Given the description of an element on the screen output the (x, y) to click on. 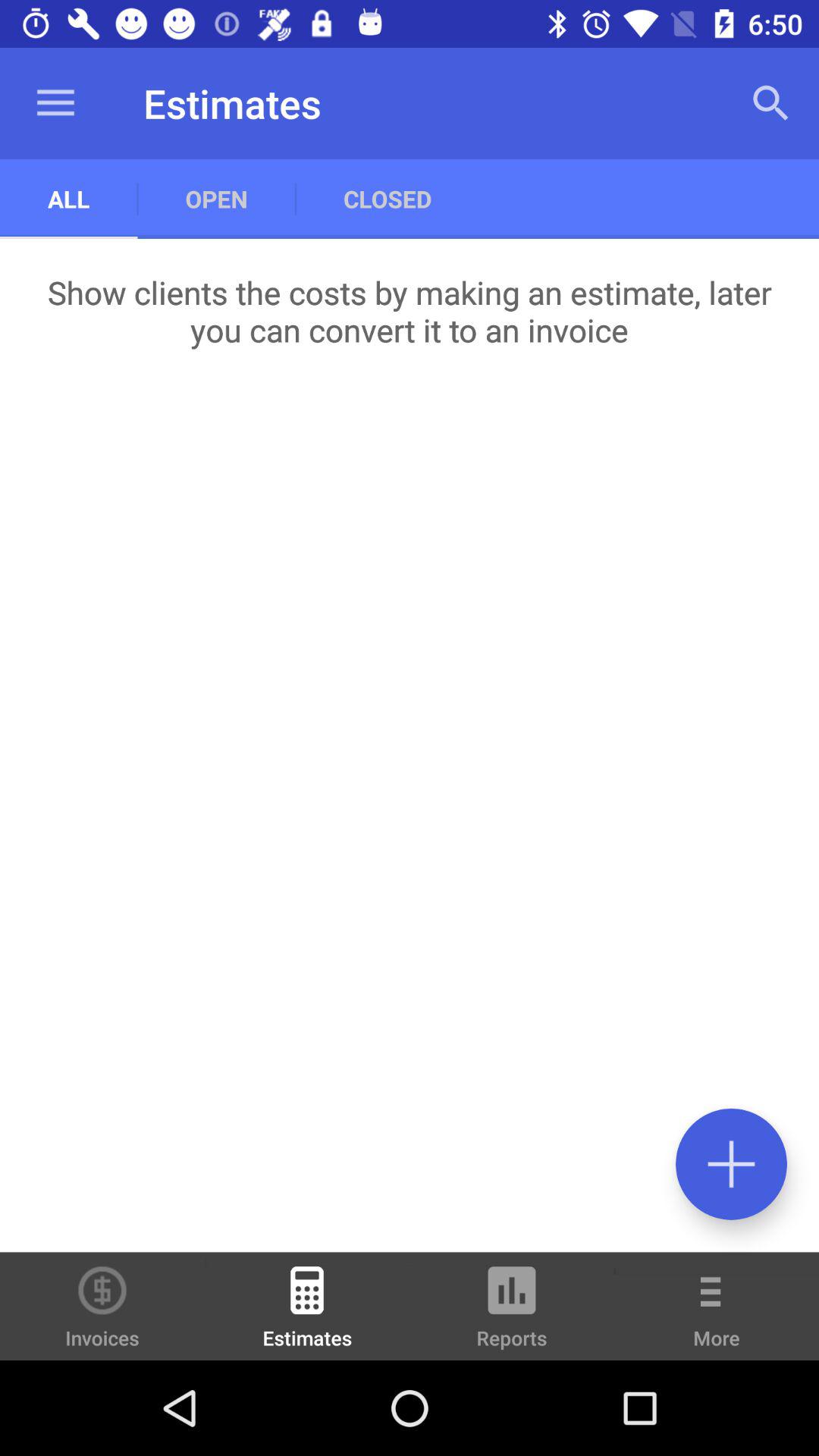
choose the icon below the show clients the item (731, 1163)
